Given the description of an element on the screen output the (x, y) to click on. 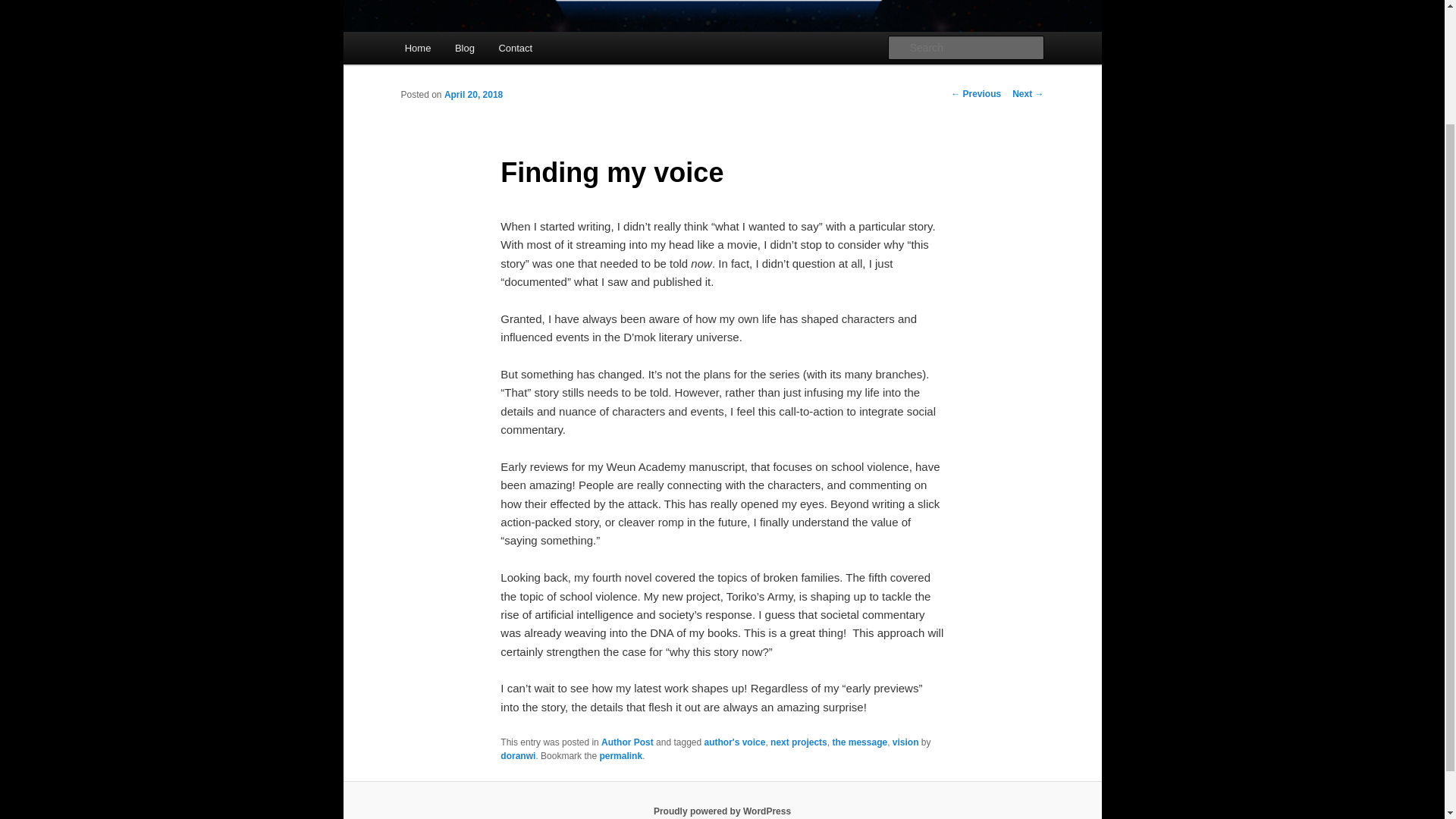
Permalink to Finding my voice (620, 755)
Skip to secondary content (479, 50)
2:43 am (473, 94)
Proudly powered by WordPress (721, 810)
Contact (515, 47)
doranwi (517, 755)
the message (858, 741)
next projects (798, 741)
Author Post (627, 741)
April 20, 2018 (473, 94)
Home (417, 47)
Skip to secondary content (479, 50)
Semantic Personal Publishing Platform (721, 810)
vision (905, 741)
Skip to primary content (472, 50)
